Given the description of an element on the screen output the (x, y) to click on. 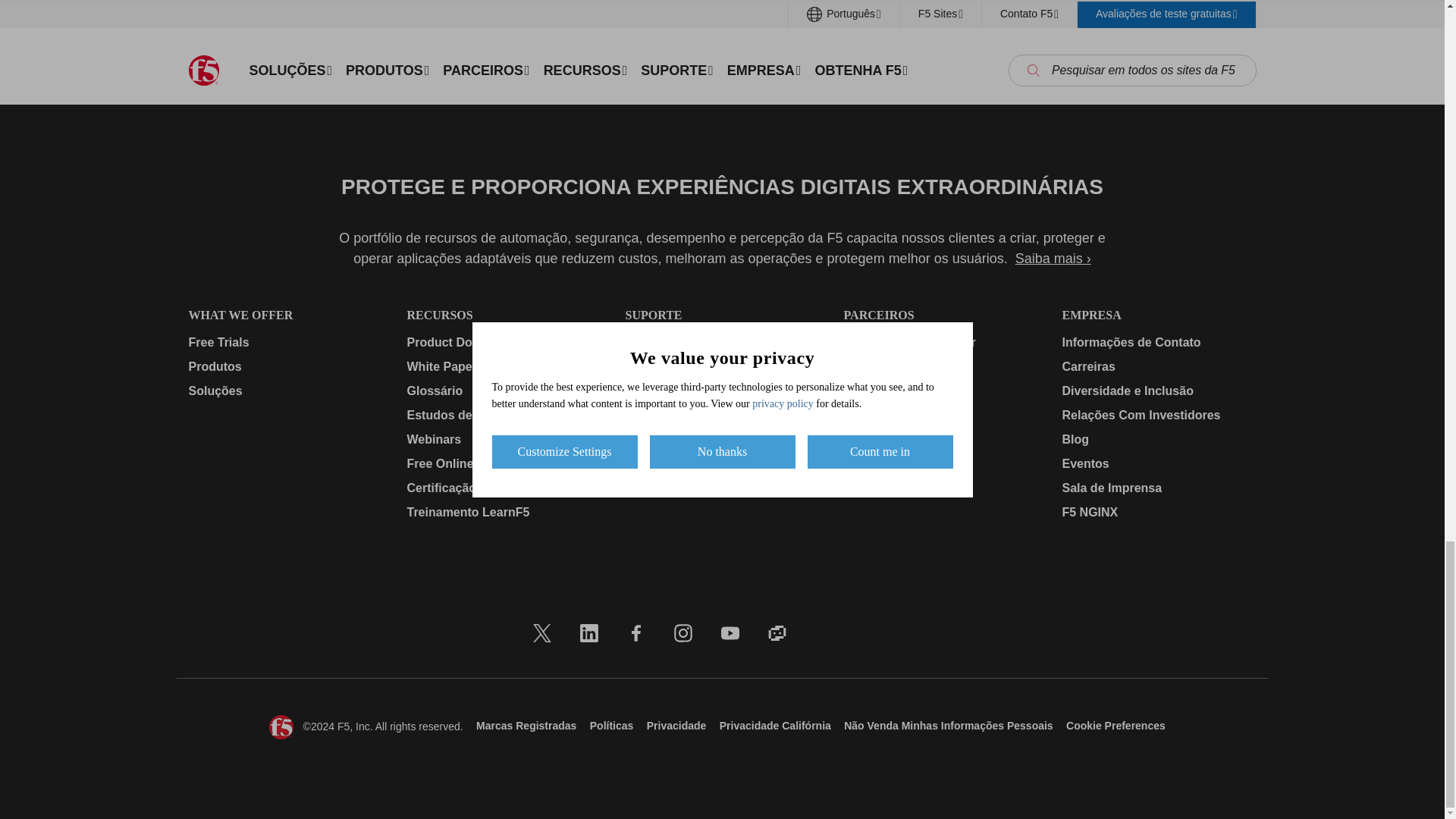
Manage Subscriptions (721, 342)
Webinars (502, 439)
Product Documentation (502, 342)
Suporte do Portal (721, 366)
Professional Services (721, 391)
Produtos (284, 366)
Free Trials (284, 342)
White Papers (502, 366)
Free Online Courses (502, 464)
Estudos de Casos de Clientes (502, 415)
Treinamento LearnF5 (502, 512)
Create a Service Request (721, 415)
